Given the description of an element on the screen output the (x, y) to click on. 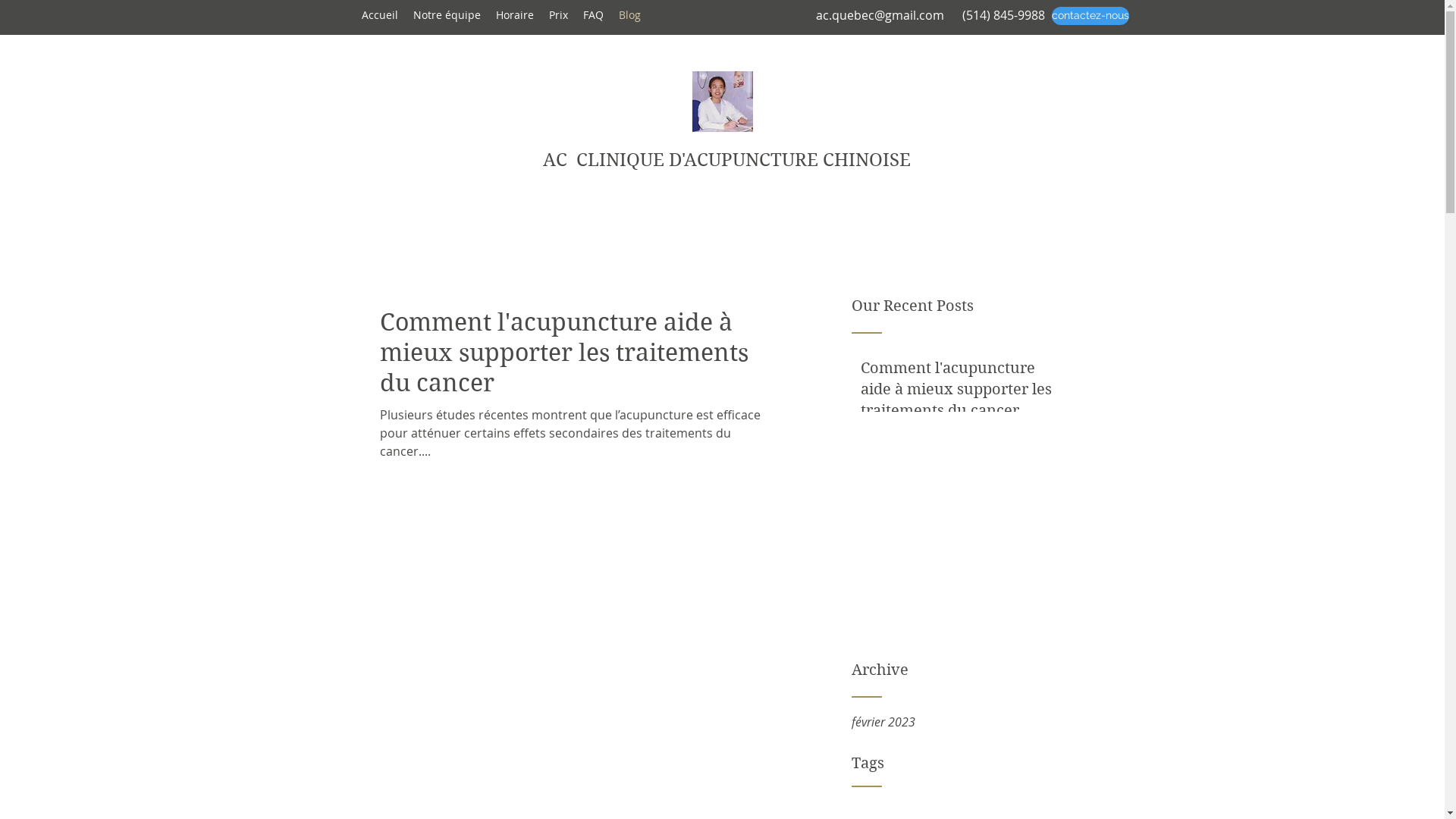
Horaire Element type: text (514, 14)
contactez-nous Element type: text (1089, 15)
Blog Element type: text (629, 14)
ac.quebec@gmail.com Element type: text (879, 14)
Prix Element type: text (558, 14)
FAQ Element type: text (592, 14)
Accueil Element type: text (378, 14)
